Given the description of an element on the screen output the (x, y) to click on. 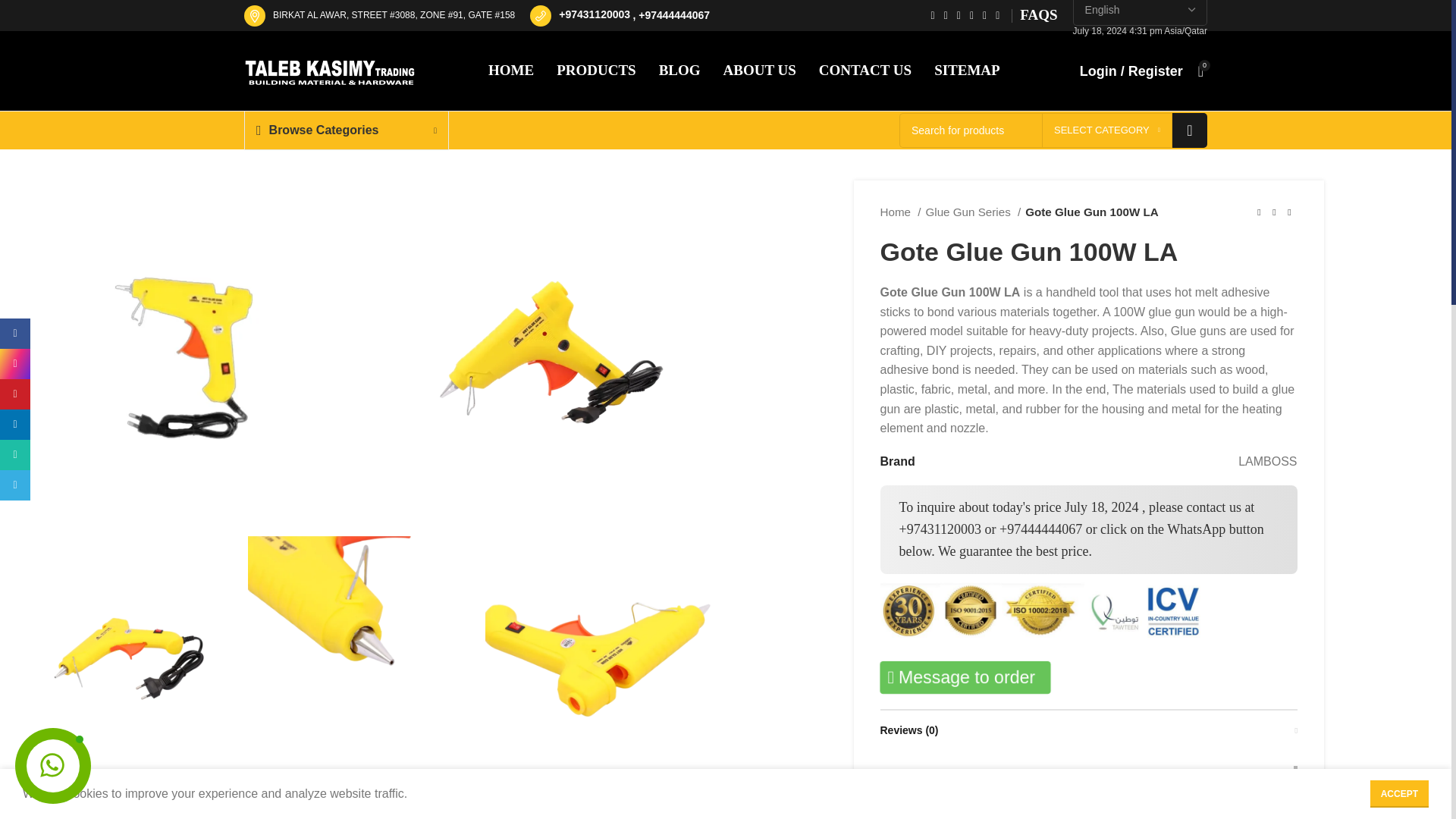
Gote-Glue-Gun-100W-LA-1 (185, 796)
Gote-Glue-Gun-100W-LA-3 (362, 649)
Gote-Glue-Gun-100W-LA-2 (599, 649)
Gote-Glue-Gun-100W-LA-4535 (185, 354)
Search for products (1053, 130)
CONTACT US (864, 71)
BLOG (679, 71)
Log in (1057, 319)
Gote-Glue-Gun-100W-LA-4 (125, 649)
FAQS (1038, 15)
My account (1131, 71)
PRODUCTS (596, 71)
SELECT CATEGORY (1107, 130)
HOME (510, 71)
SITEMAP (967, 71)
